Given the description of an element on the screen output the (x, y) to click on. 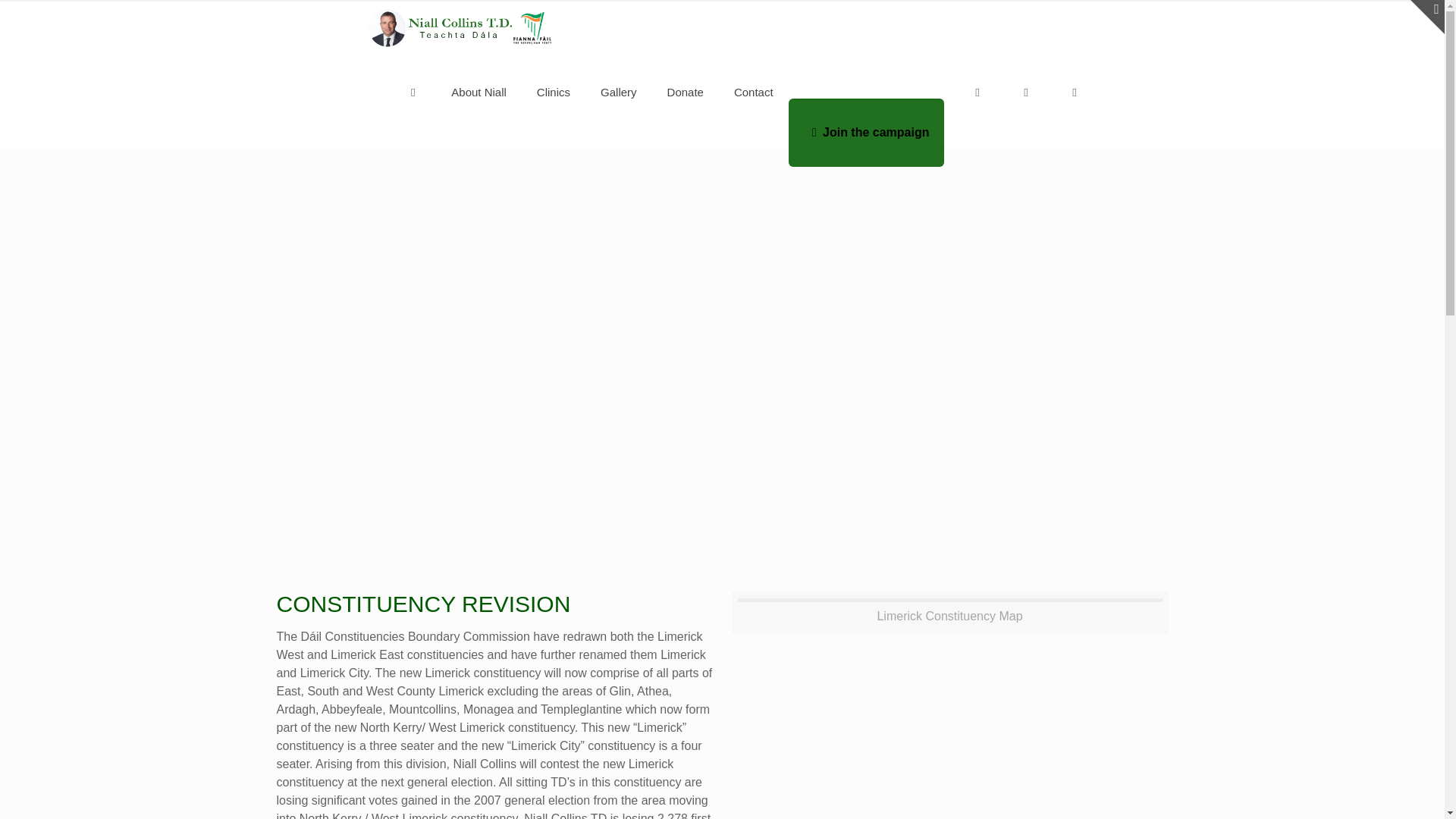
Contact (754, 92)
Donate (685, 92)
About Niall (478, 92)
Niall Collins TD (458, 24)
Clinics (553, 92)
Join the campaign (866, 132)
Gallery (618, 92)
